Given the description of an element on the screen output the (x, y) to click on. 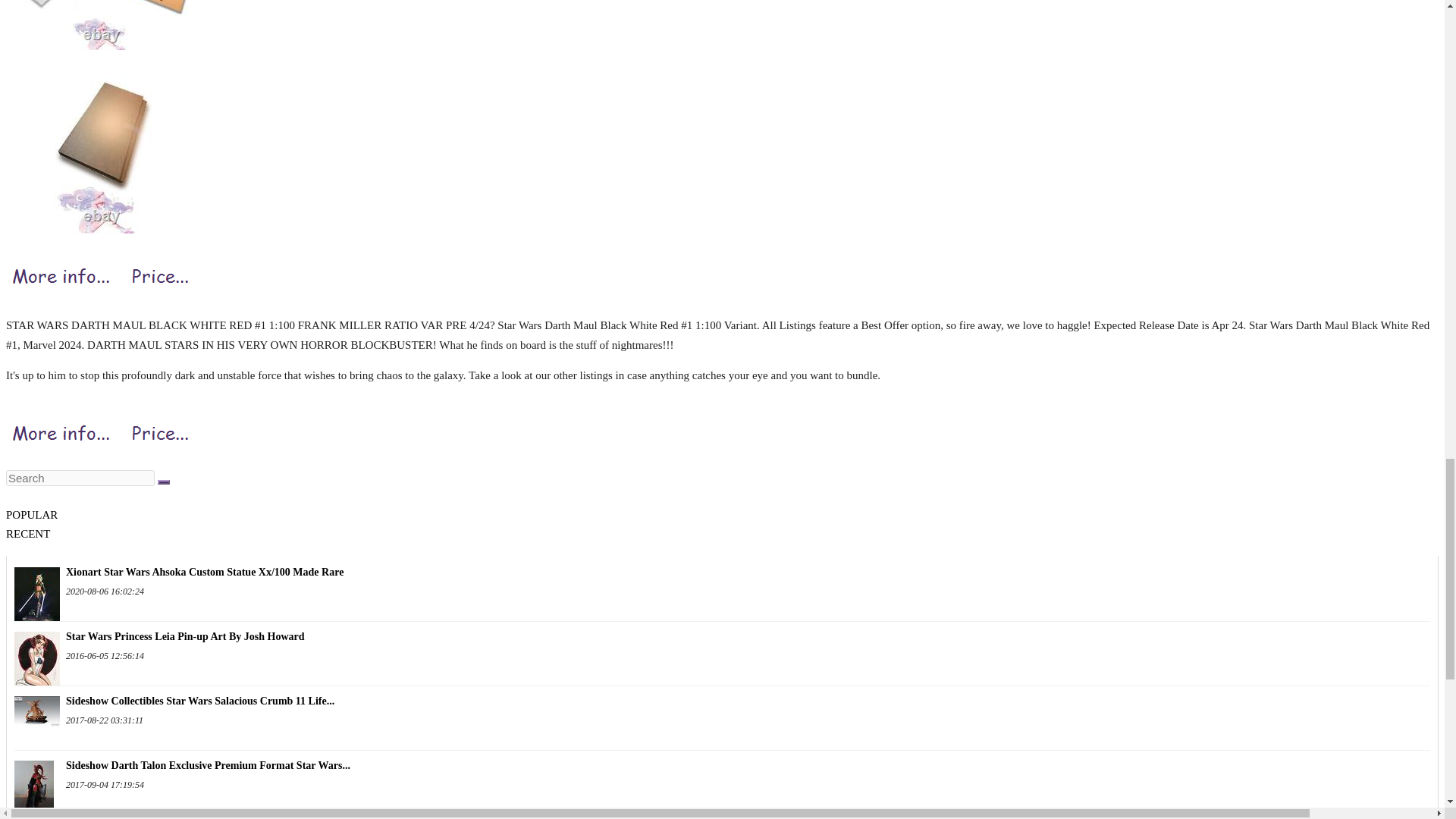
Star Wars Princess Leia Pin-up Art By Josh Howard (721, 637)
Star Wars Princess Leia Pin-up Art By Josh Howard (36, 652)
